Given the description of an element on the screen output the (x, y) to click on. 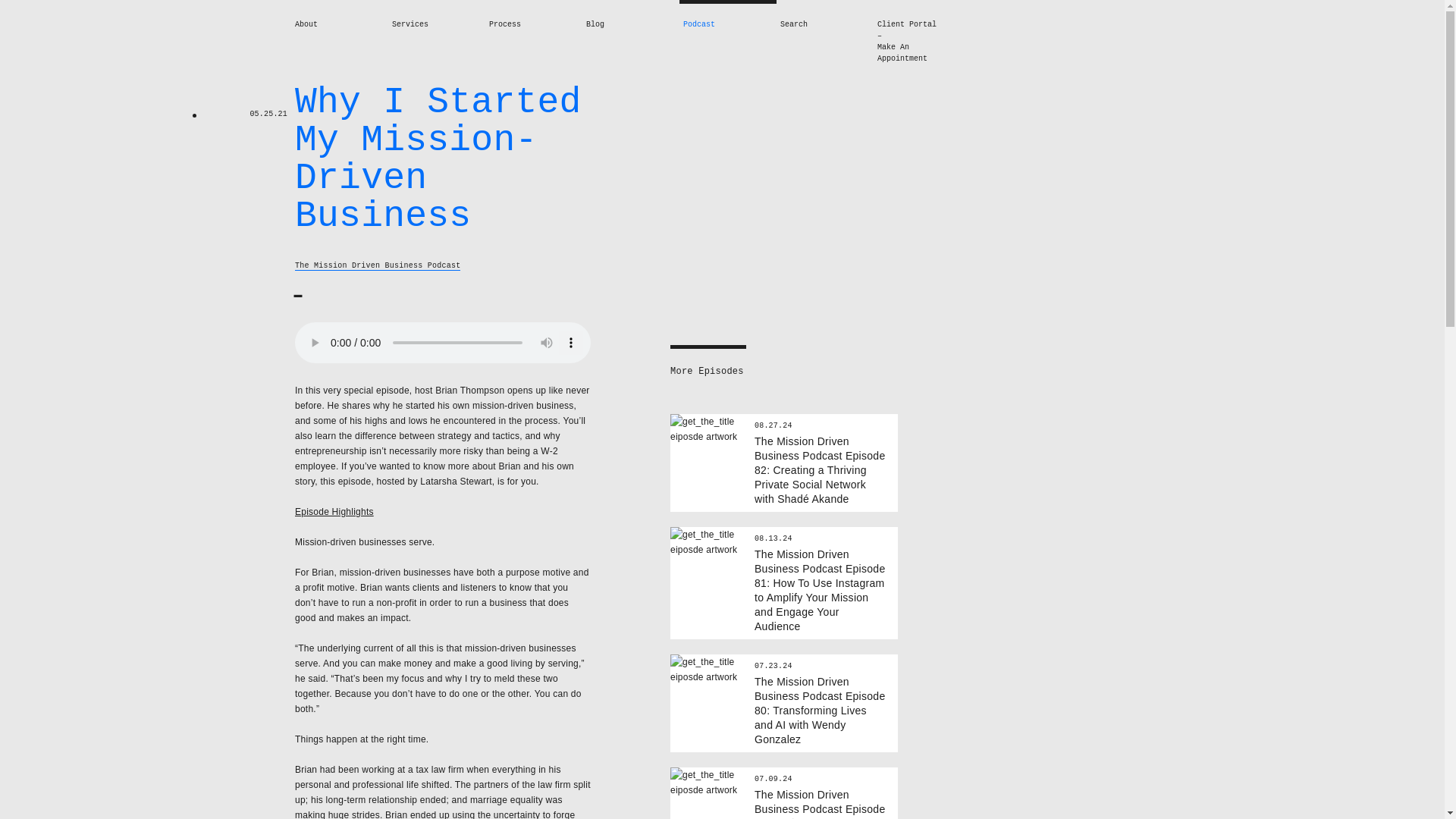
Podcast (698, 24)
The Mission Driven Business Podcast (377, 266)
Services (409, 24)
About (306, 24)
Search (794, 24)
Client Portal (915, 24)
Blog (595, 24)
Process (505, 24)
